Given the description of an element on the screen output the (x, y) to click on. 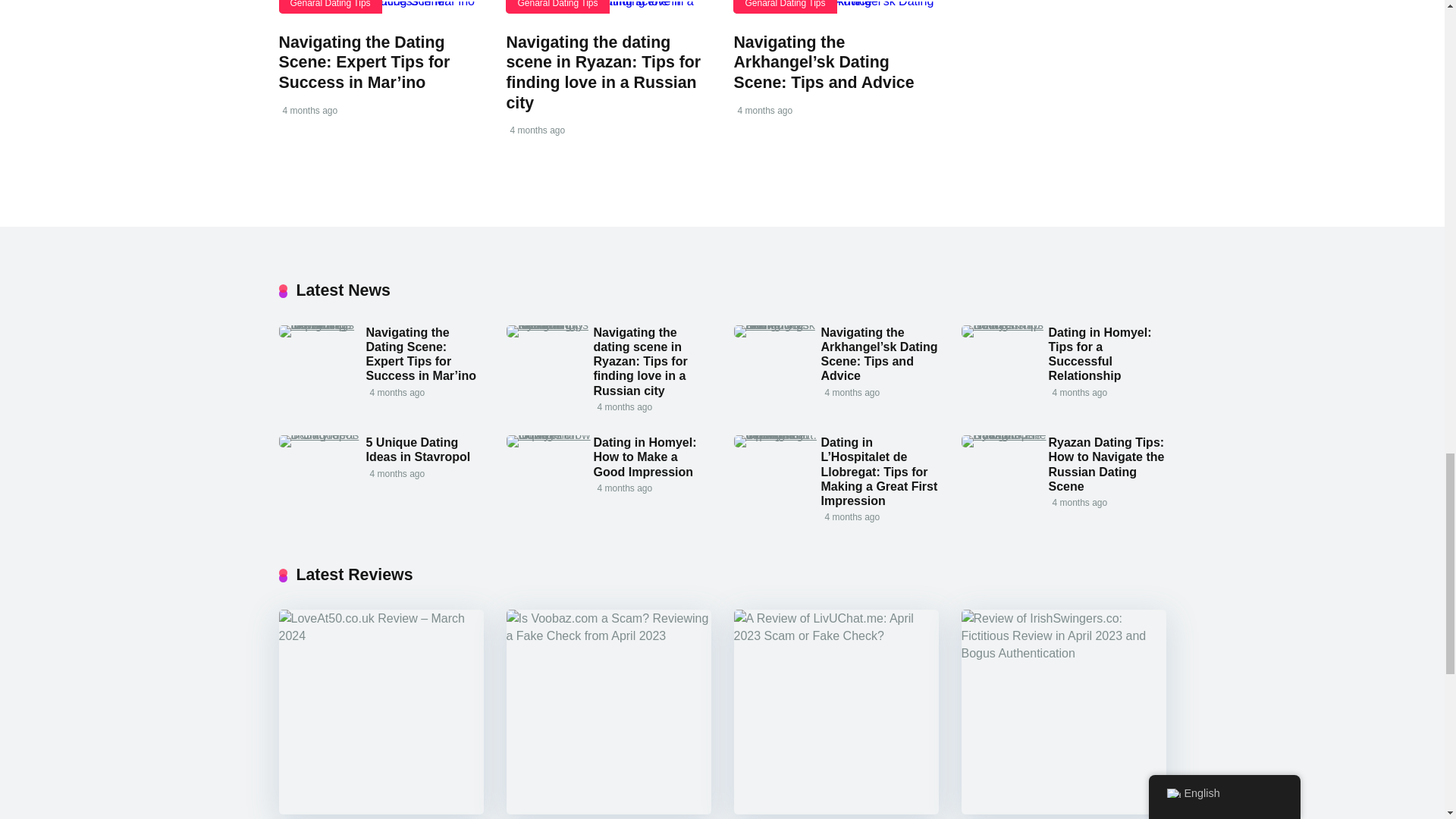
Genaral Dating Tips (784, 6)
Dating in Homyel: Tips for a Successful Relationship (1004, 324)
Dating in Homyel: Tips for a Successful Relationship (1099, 354)
Genaral Dating Tips (556, 6)
Genaral Dating Tips (330, 6)
